Given the description of an element on the screen output the (x, y) to click on. 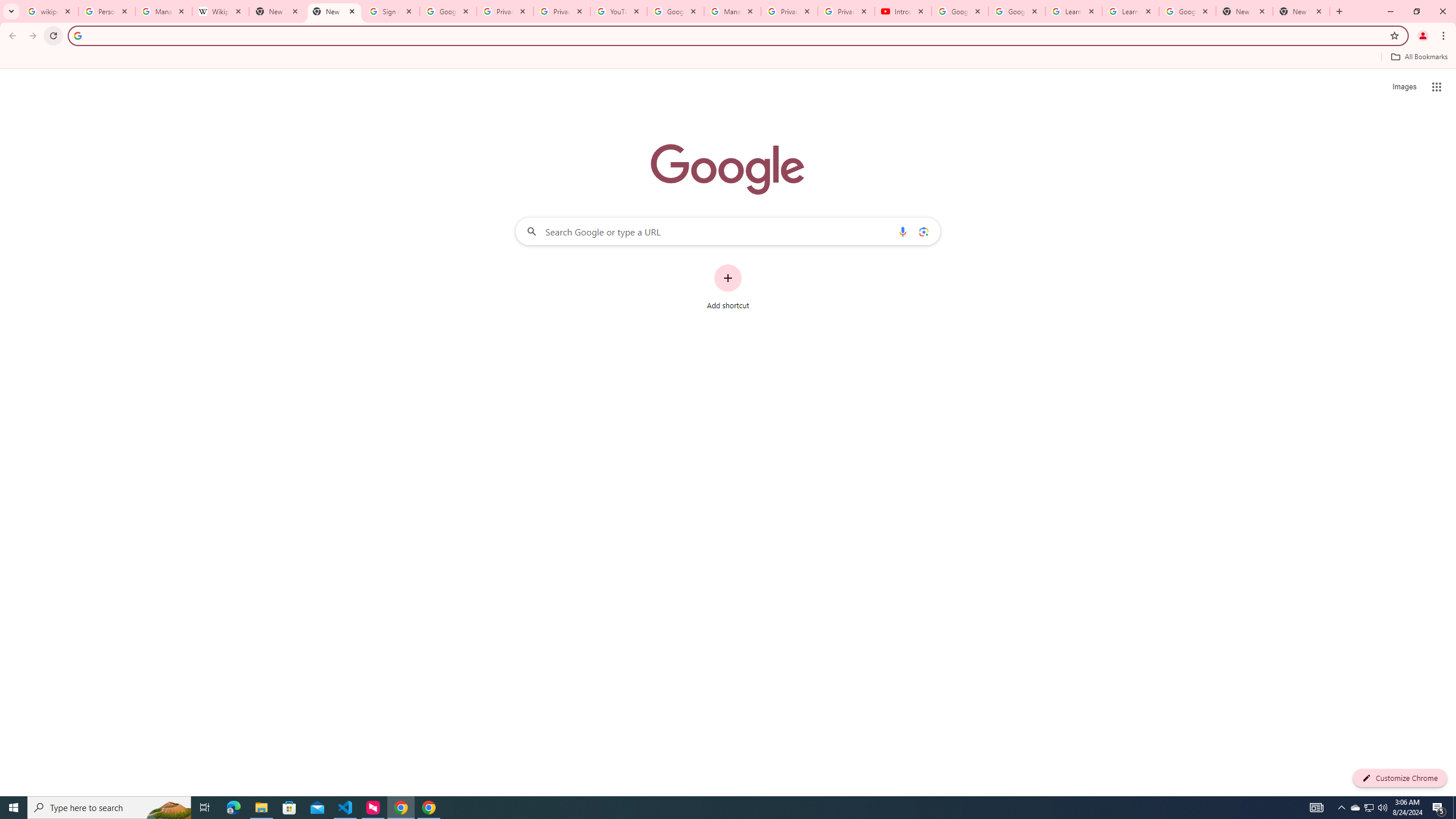
Introduction | Google Privacy Policy - YouTube (902, 11)
Google Account Help (1015, 11)
Google Account Help (959, 11)
Personalization & Google Search results - Google Search Help (105, 11)
